Given the description of an element on the screen output the (x, y) to click on. 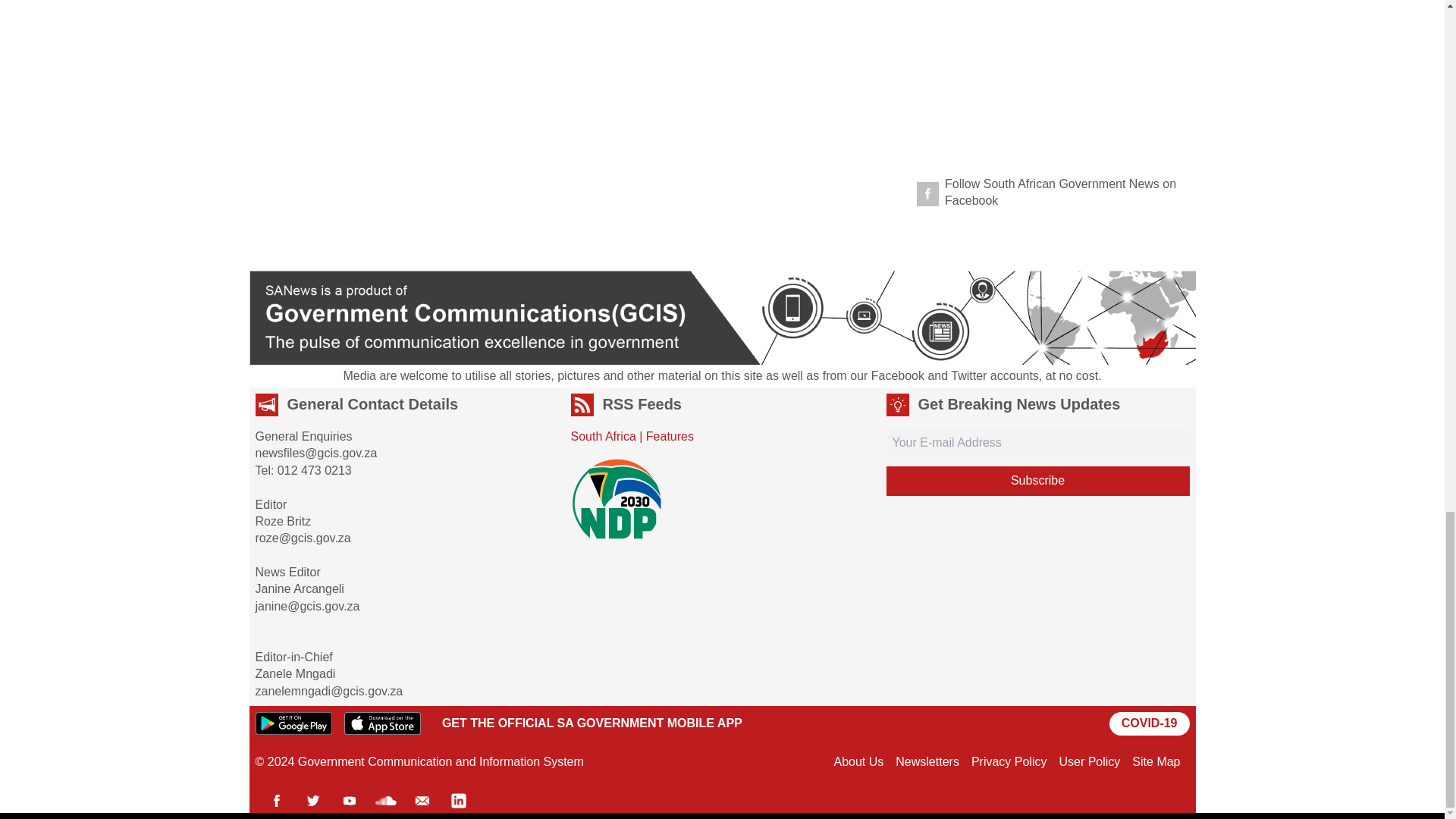
Subscribe (1037, 480)
Download from the iTunes App Store (381, 722)
COVID-19 (1149, 722)
Subscribe (1037, 480)
South Africa (602, 436)
Download from the Google Play Store (292, 722)
Follow South African Government News on Facebook (1049, 192)
Features (670, 436)
